Given the description of an element on the screen output the (x, y) to click on. 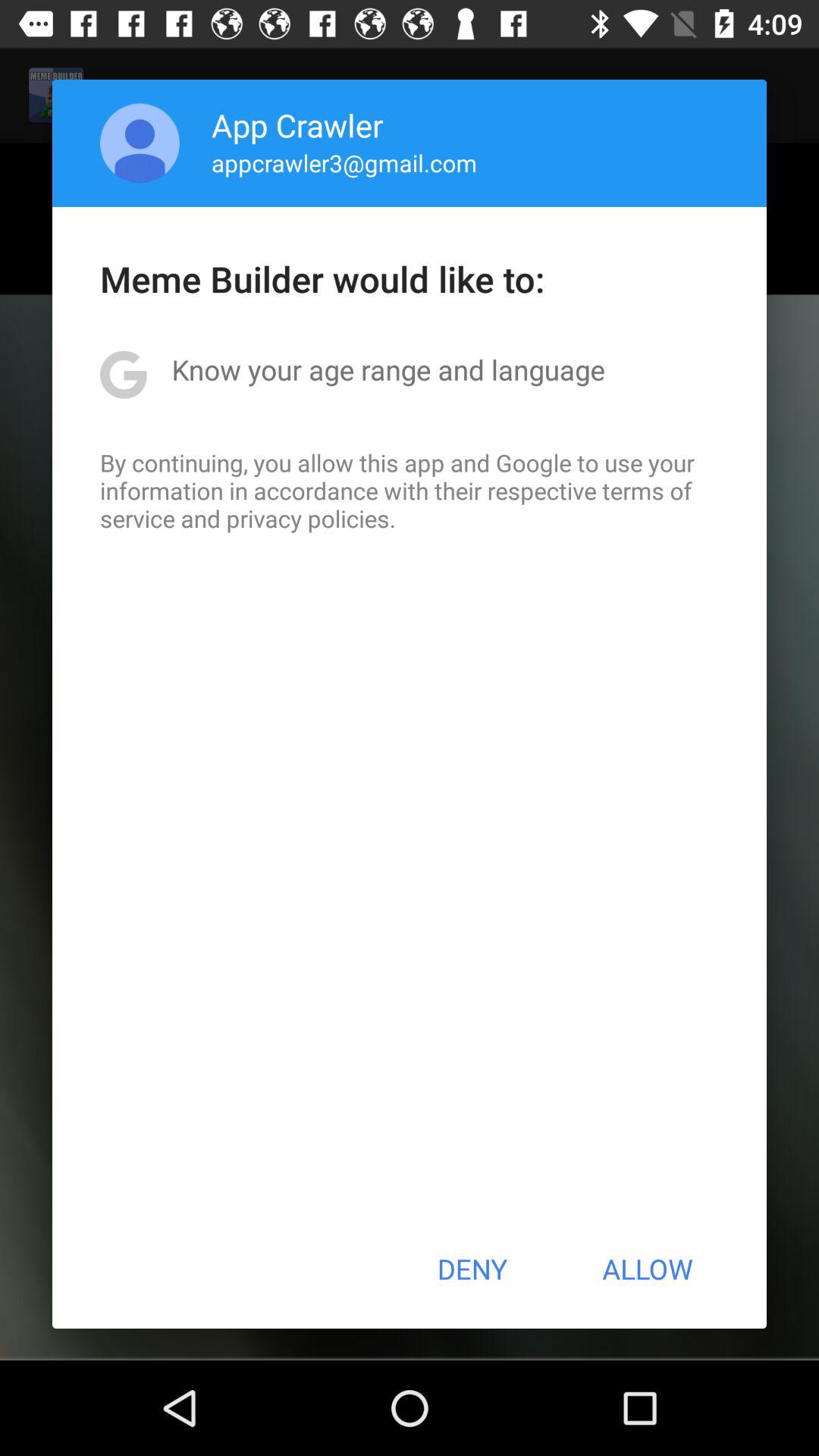
open the icon above the appcrawler3@gmail.com icon (297, 124)
